Given the description of an element on the screen output the (x, y) to click on. 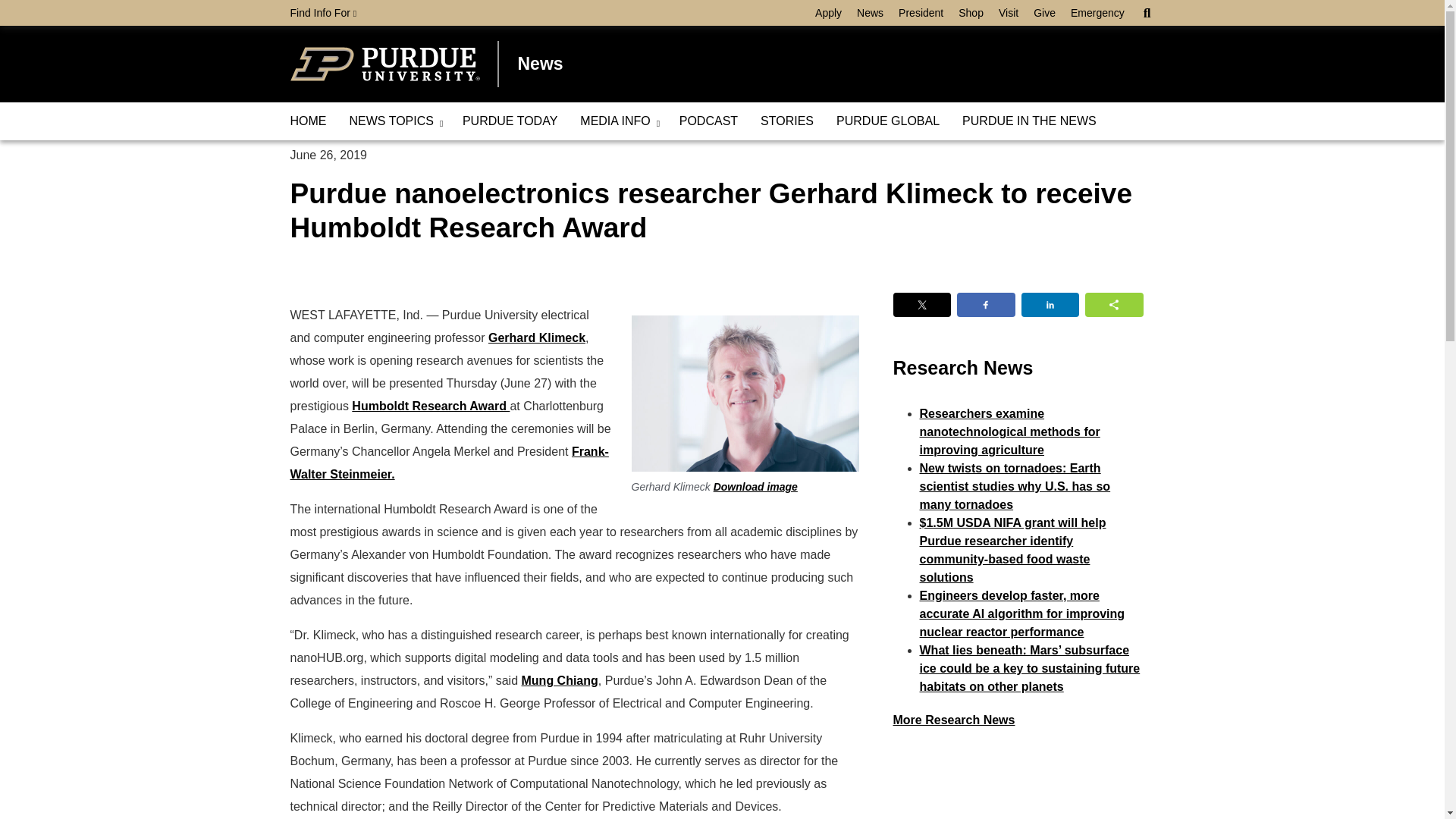
Shop (970, 12)
MEDIA INFO (617, 121)
President (920, 12)
NEWS TOPICS (394, 121)
Find Info For (322, 12)
Visit (1008, 12)
News (869, 12)
Emergency (1097, 12)
HOME (308, 121)
Apply (828, 12)
PURDUE TODAY (510, 121)
PODCAST (708, 121)
News (539, 64)
Give (1044, 12)
